Given the description of an element on the screen output the (x, y) to click on. 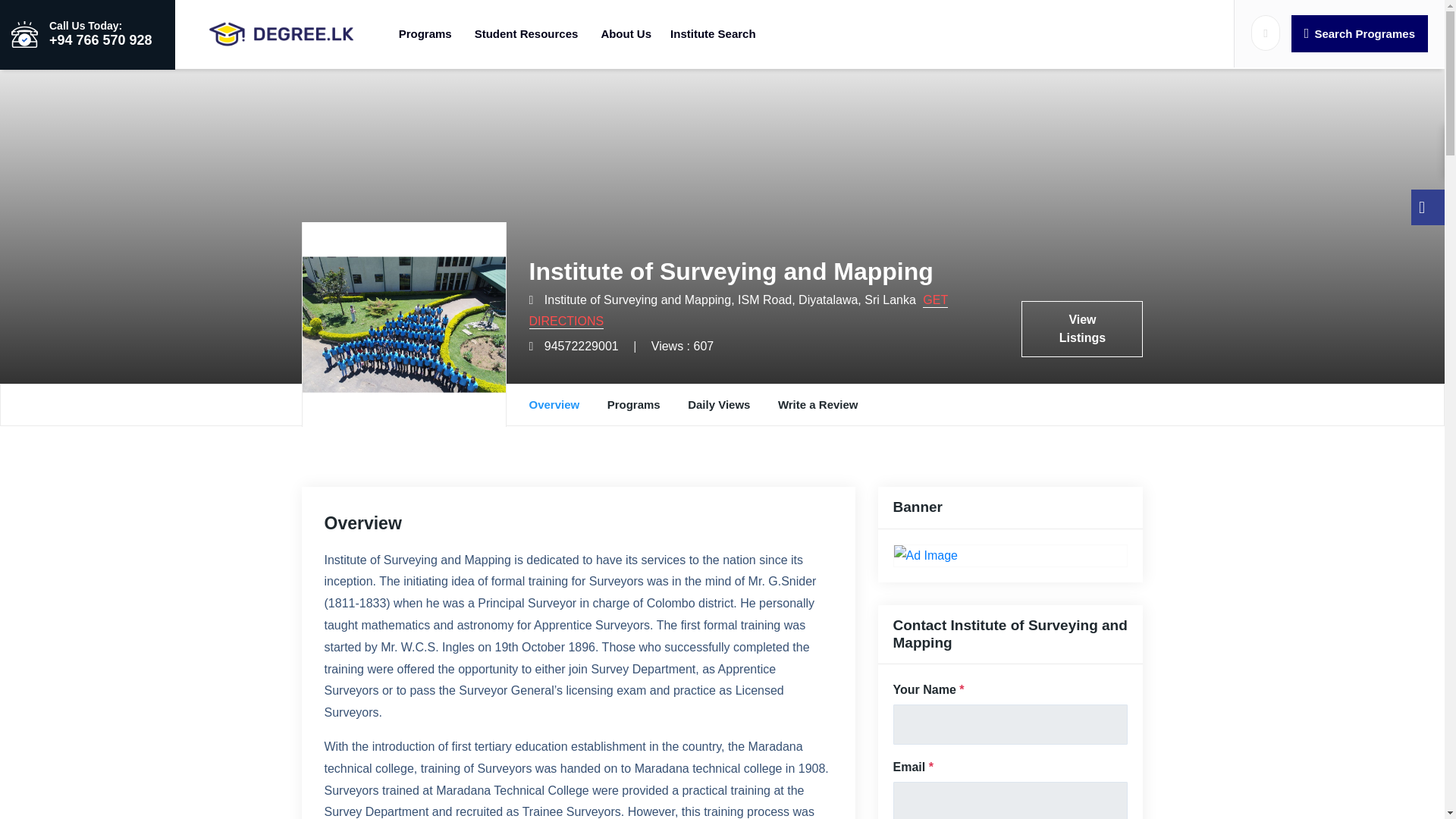
About Us (625, 33)
Write a Review (818, 404)
94572229001 (581, 345)
Student Resources (526, 33)
Search Programes (1359, 33)
Institute Search (708, 33)
Programs (634, 404)
View Listings (1082, 329)
Daily Views (718, 404)
Overview (554, 404)
